Given the description of an element on the screen output the (x, y) to click on. 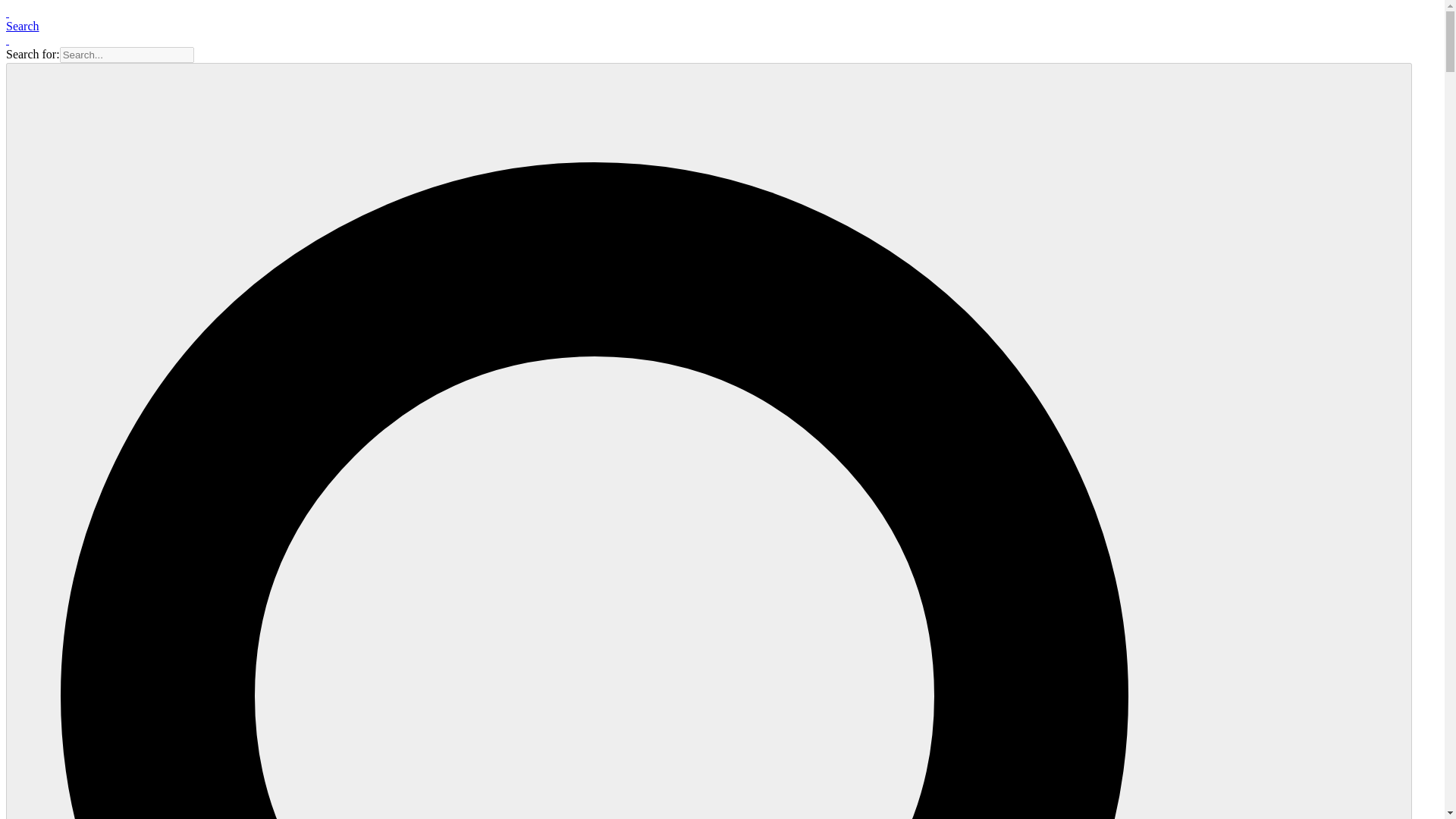
Search for: (126, 54)
Search (22, 25)
